Given the description of an element on the screen output the (x, y) to click on. 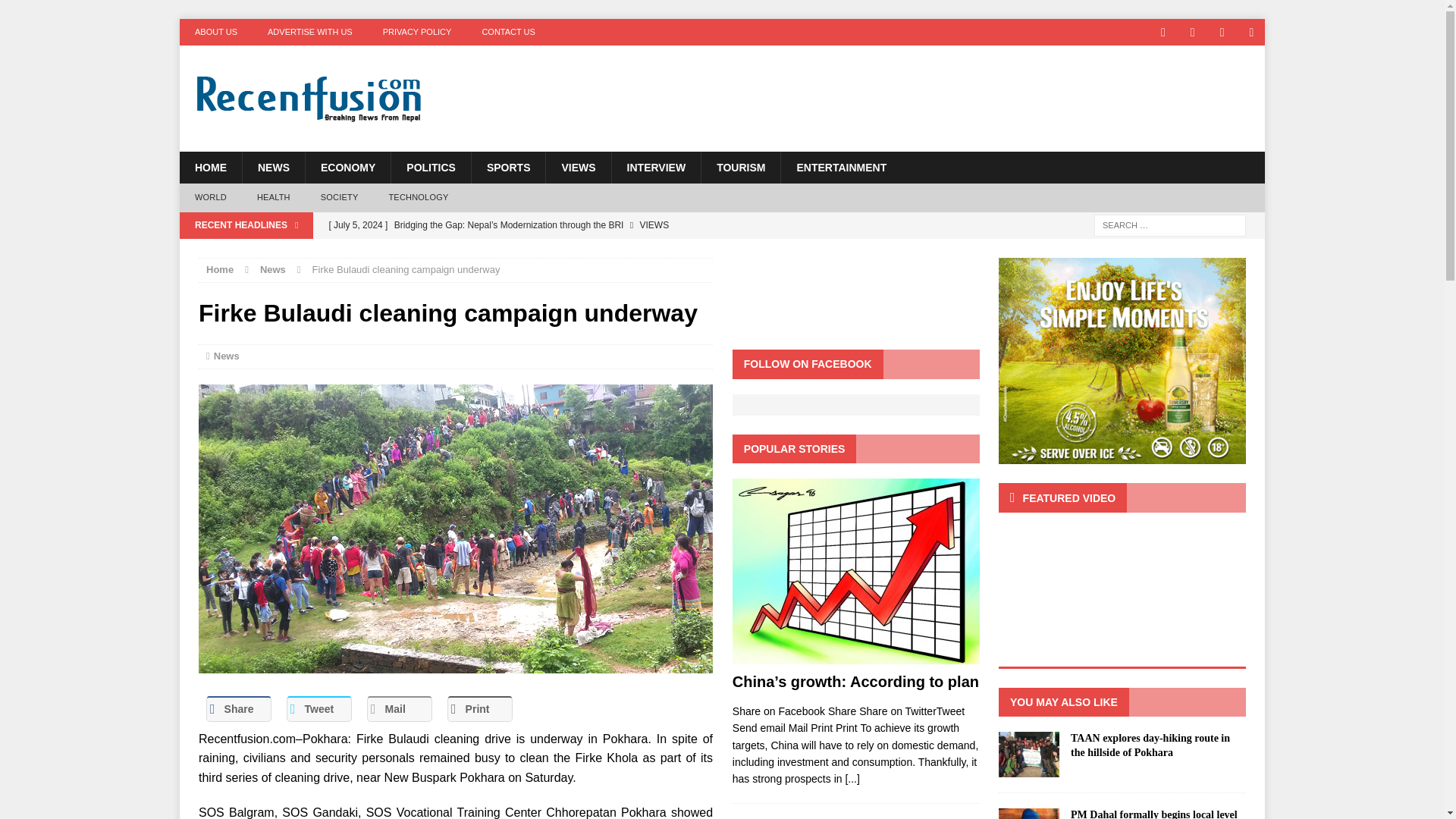
WORLD (210, 197)
HEALTH (273, 197)
Share on Facebook (238, 708)
Advertisement (917, 94)
Share it on Email (399, 708)
ADVERTISE WITH US (309, 31)
Mail (399, 708)
Print (479, 708)
CONTACT US (507, 31)
Recentfusion.com (350, 98)
Tweet (319, 708)
Share (238, 708)
Rs 1M cheque handed over to the widow of trekking supporter (604, 250)
ABOUT US (215, 31)
Print (479, 708)
